Given the description of an element on the screen output the (x, y) to click on. 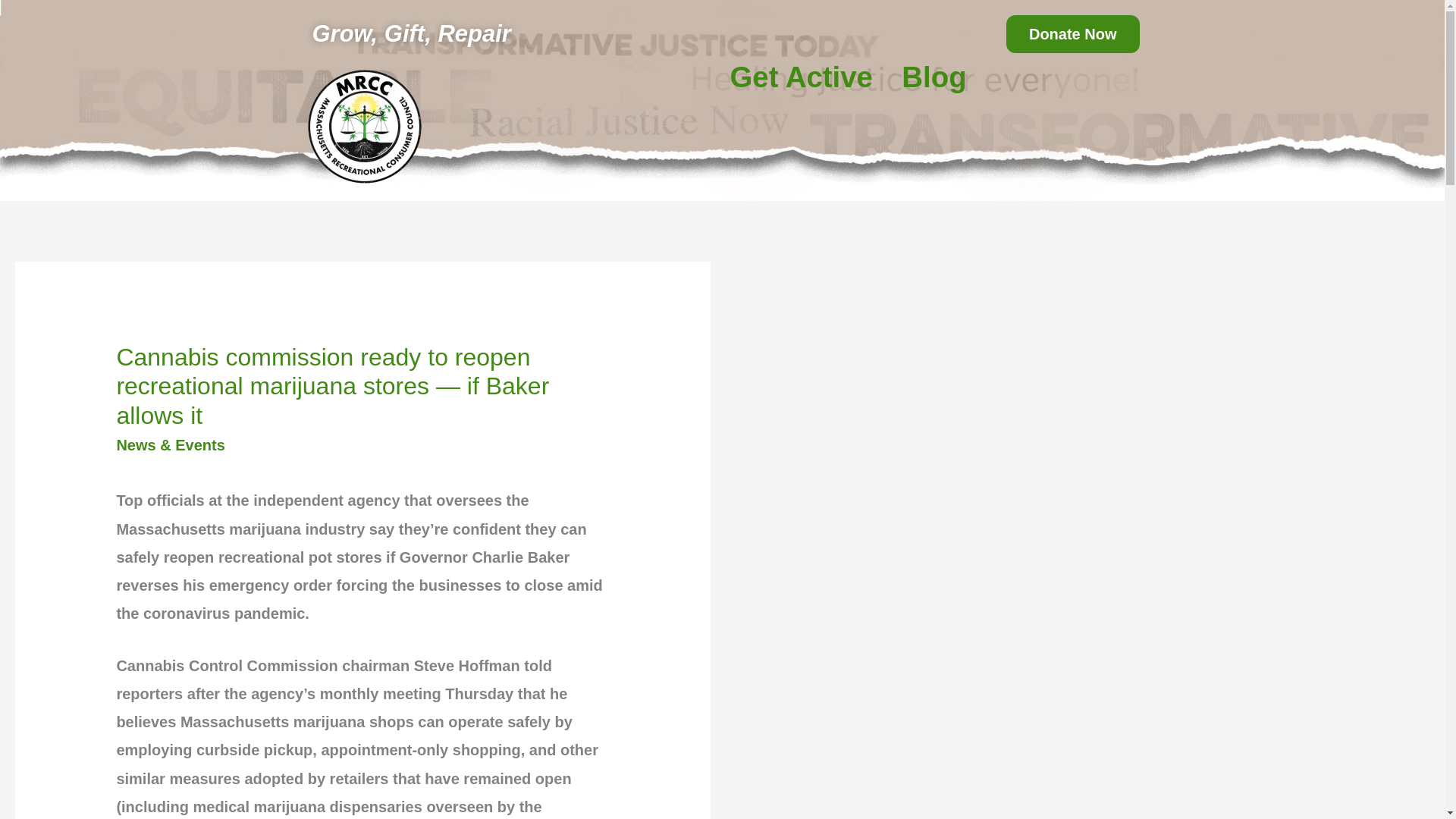
Donate Now (1073, 34)
